Given the description of an element on the screen output the (x, y) to click on. 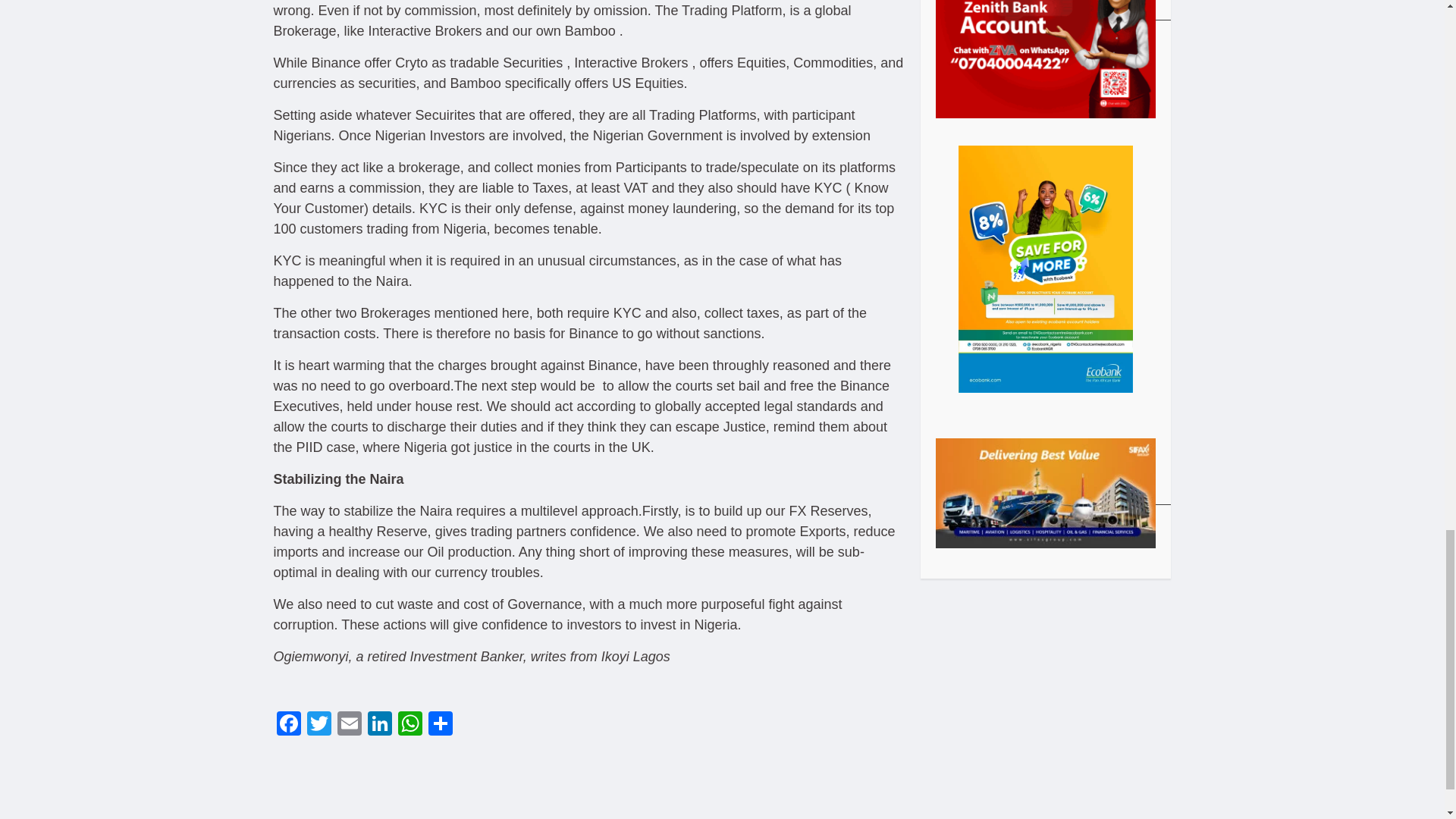
Share (439, 725)
WhatsApp (409, 725)
Facebook (287, 725)
LinkedIn (379, 725)
Email (348, 725)
LinkedIn (379, 725)
Twitter (317, 725)
WhatsApp (409, 725)
Twitter (317, 725)
Facebook (287, 725)
Email (348, 725)
